Given the description of an element on the screen output the (x, y) to click on. 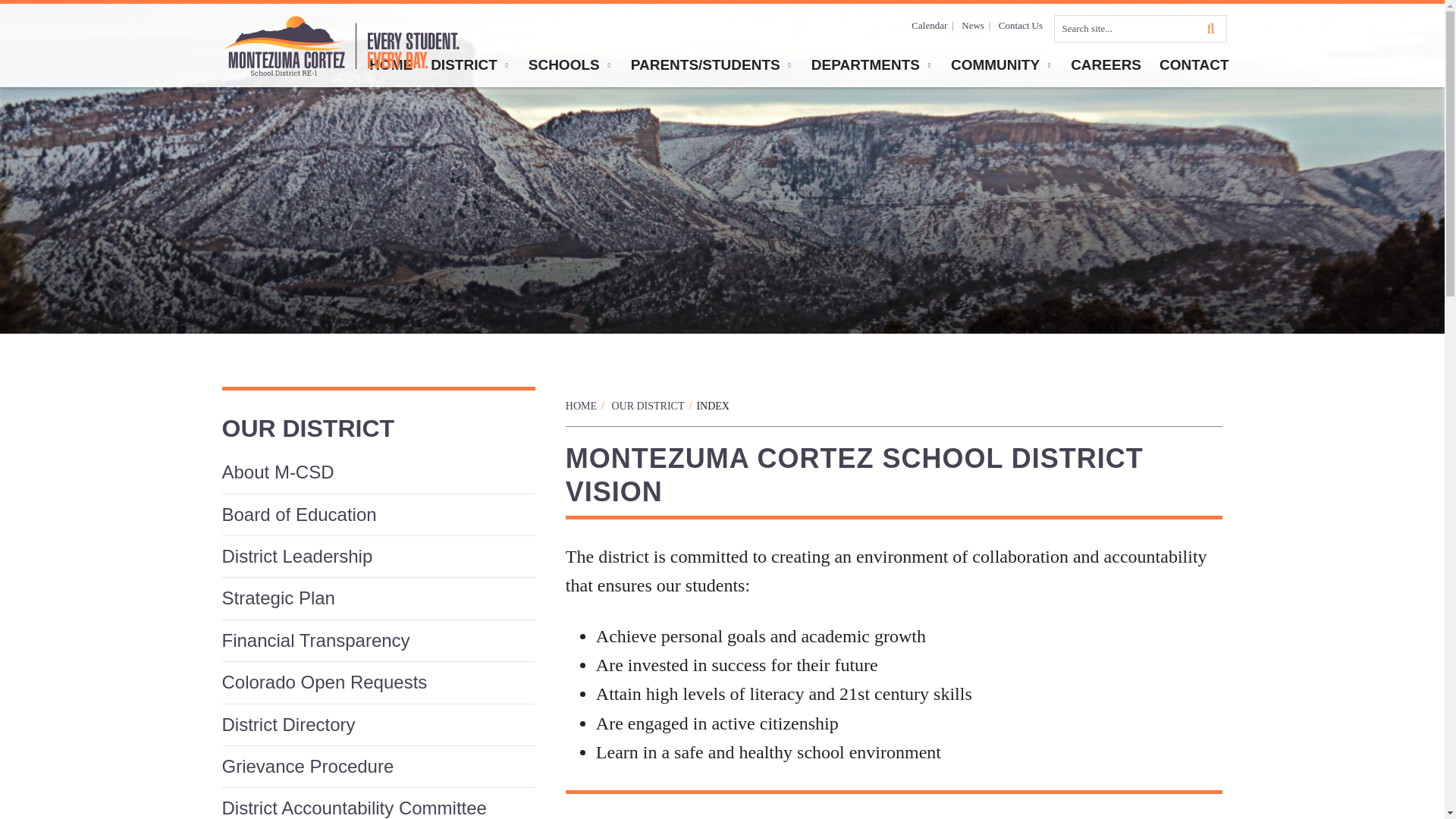
Calendar - Header link (929, 26)
DEPARTMENTS (872, 64)
HOME (390, 64)
News - Header link (972, 26)
Contact Us - Header link (1020, 26)
SCHOOLS (570, 64)
DISTRICT (470, 64)
Search (1140, 28)
